Given the description of an element on the screen output the (x, y) to click on. 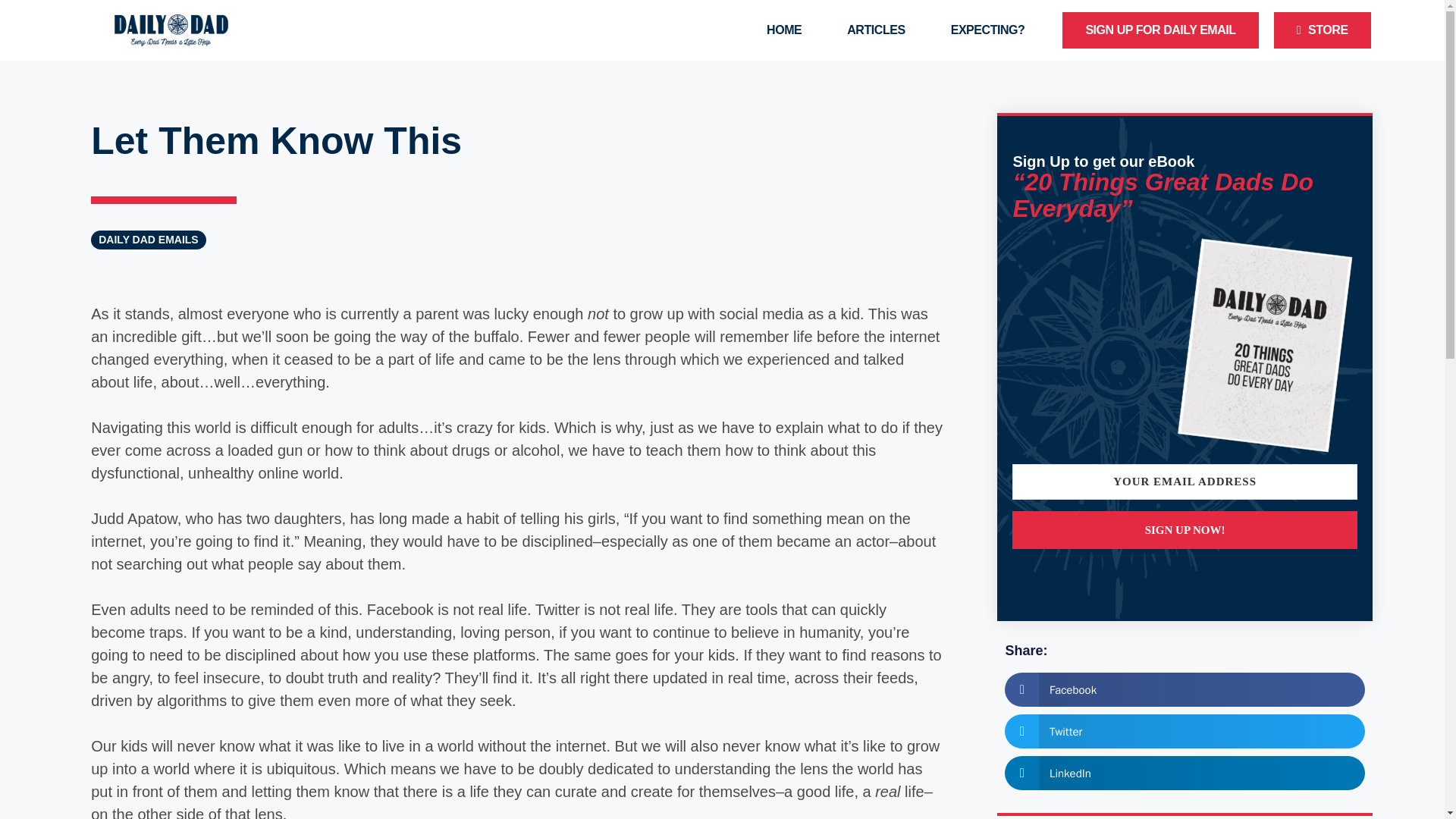
HOME (783, 30)
ARTICLES (876, 30)
DAILY DAD EMAILS (148, 239)
EXPECTING? (987, 30)
SIGN UP FOR DAILY EMAIL (1160, 30)
STORE (1321, 30)
SIGN UP NOW! (1183, 530)
